Given the description of an element on the screen output the (x, y) to click on. 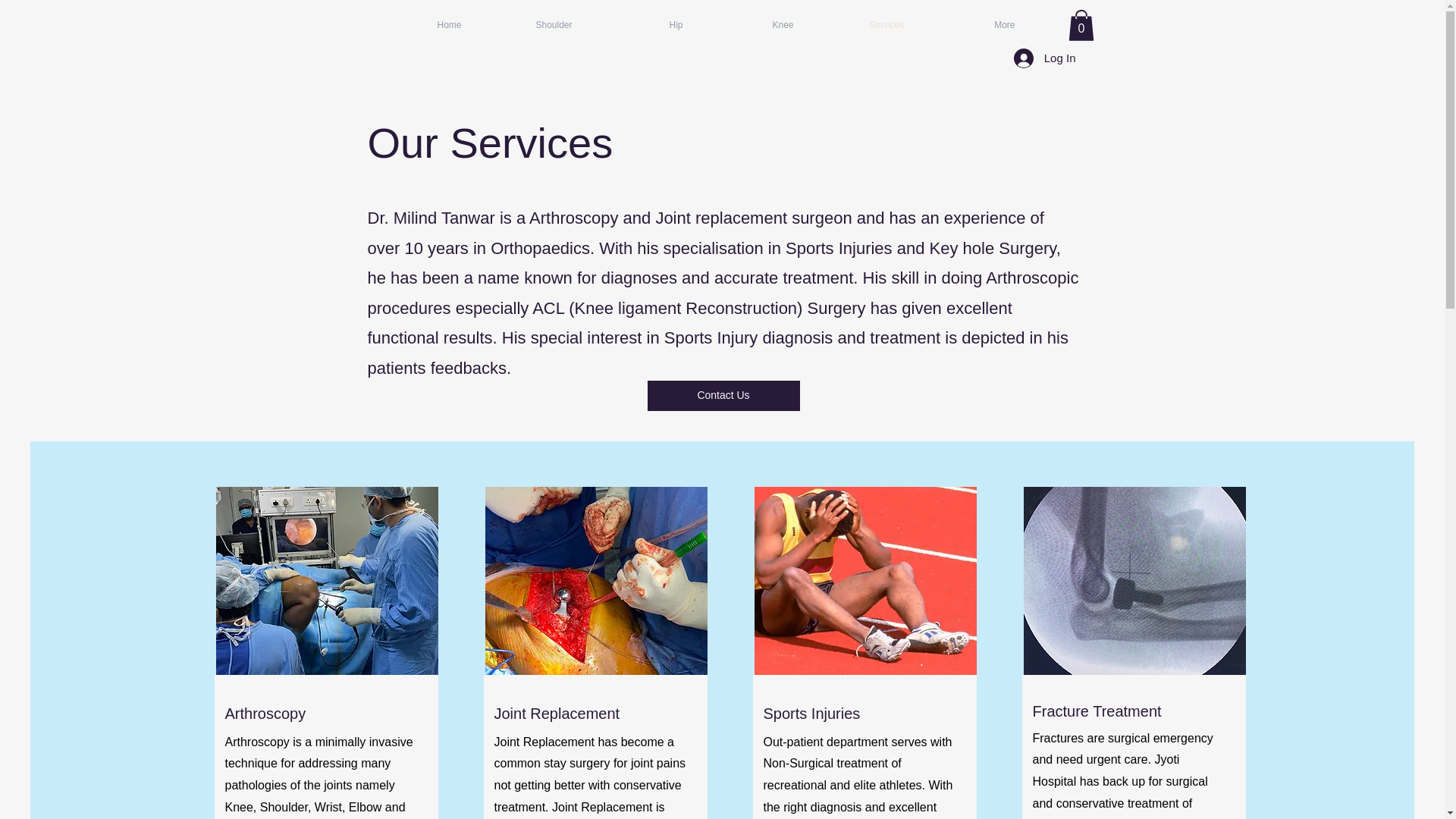
Log In (1044, 58)
Knee (749, 24)
Services (860, 24)
Home (417, 24)
Shoulder (528, 24)
Hip (638, 24)
Contact Us (723, 395)
